Given the description of an element on the screen output the (x, y) to click on. 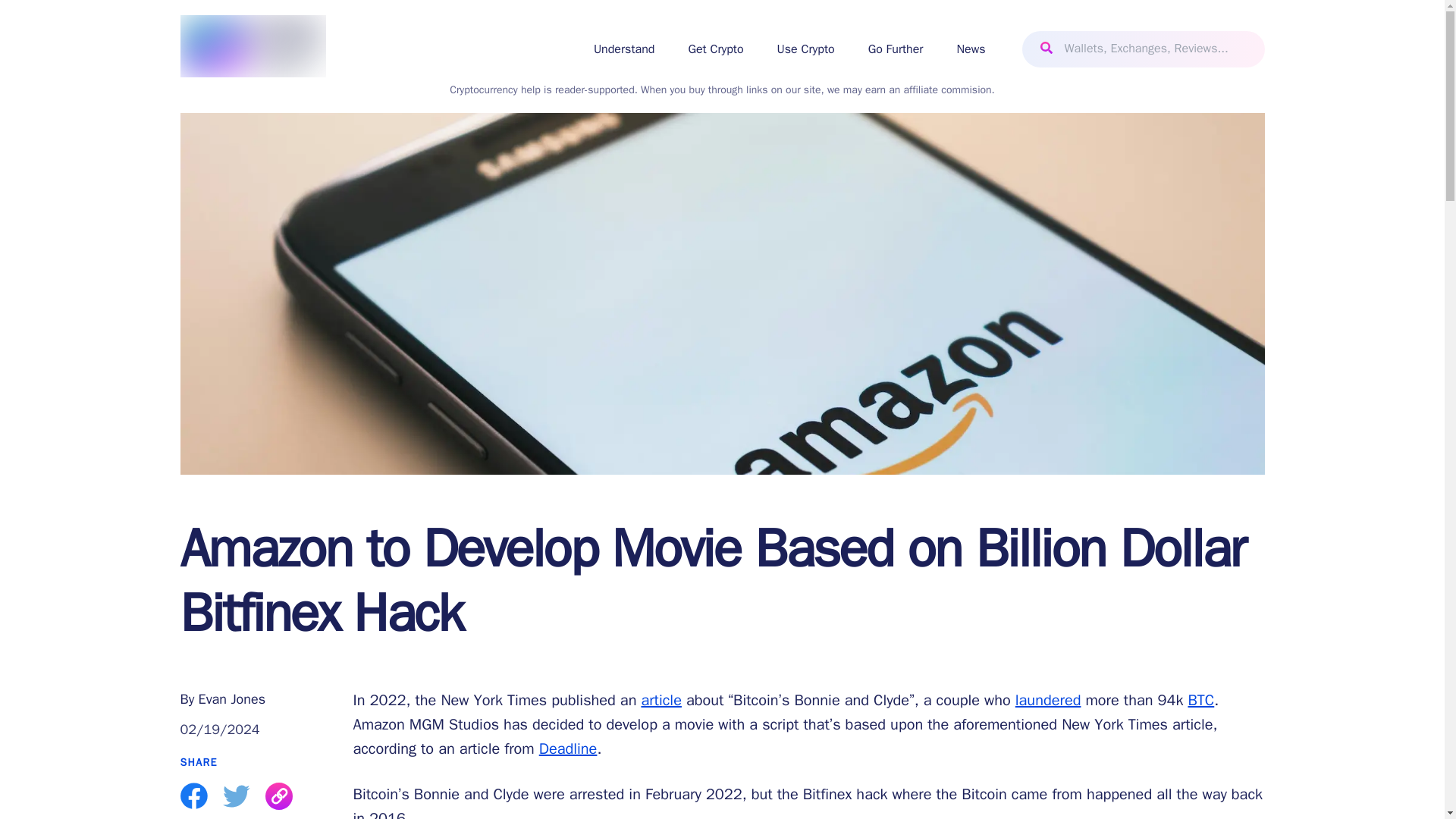
Understand (624, 49)
Deadline (567, 748)
News (970, 49)
Get Crypto (714, 49)
Go Further (895, 49)
BTC (1201, 700)
laundered (1047, 700)
Use Crypto (805, 49)
article (660, 700)
